Given the description of an element on the screen output the (x, y) to click on. 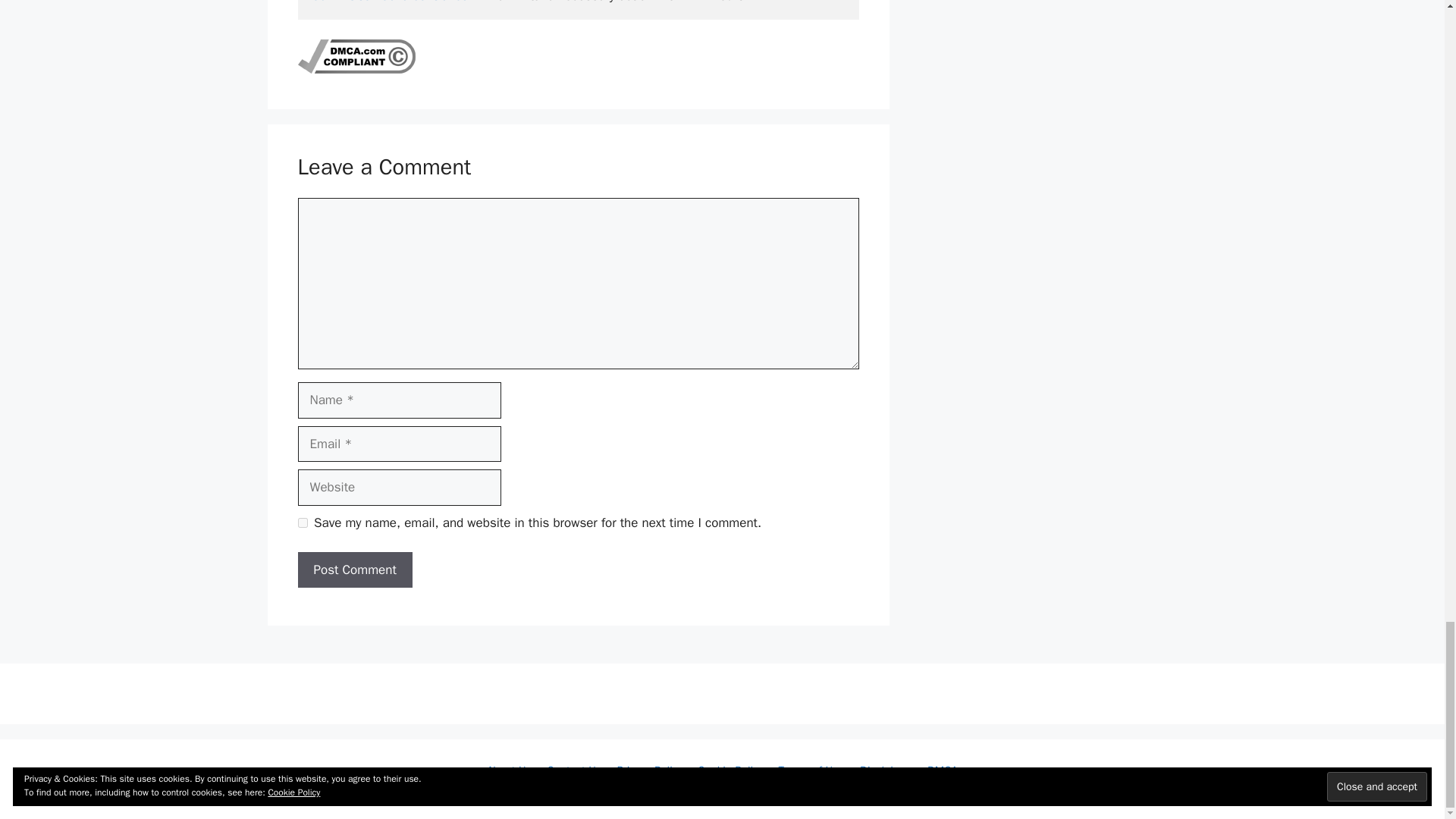
DMCA Compliance information for samacharcentral.com (355, 68)
Post Comment (354, 570)
yes (302, 522)
